Given the description of an element on the screen output the (x, y) to click on. 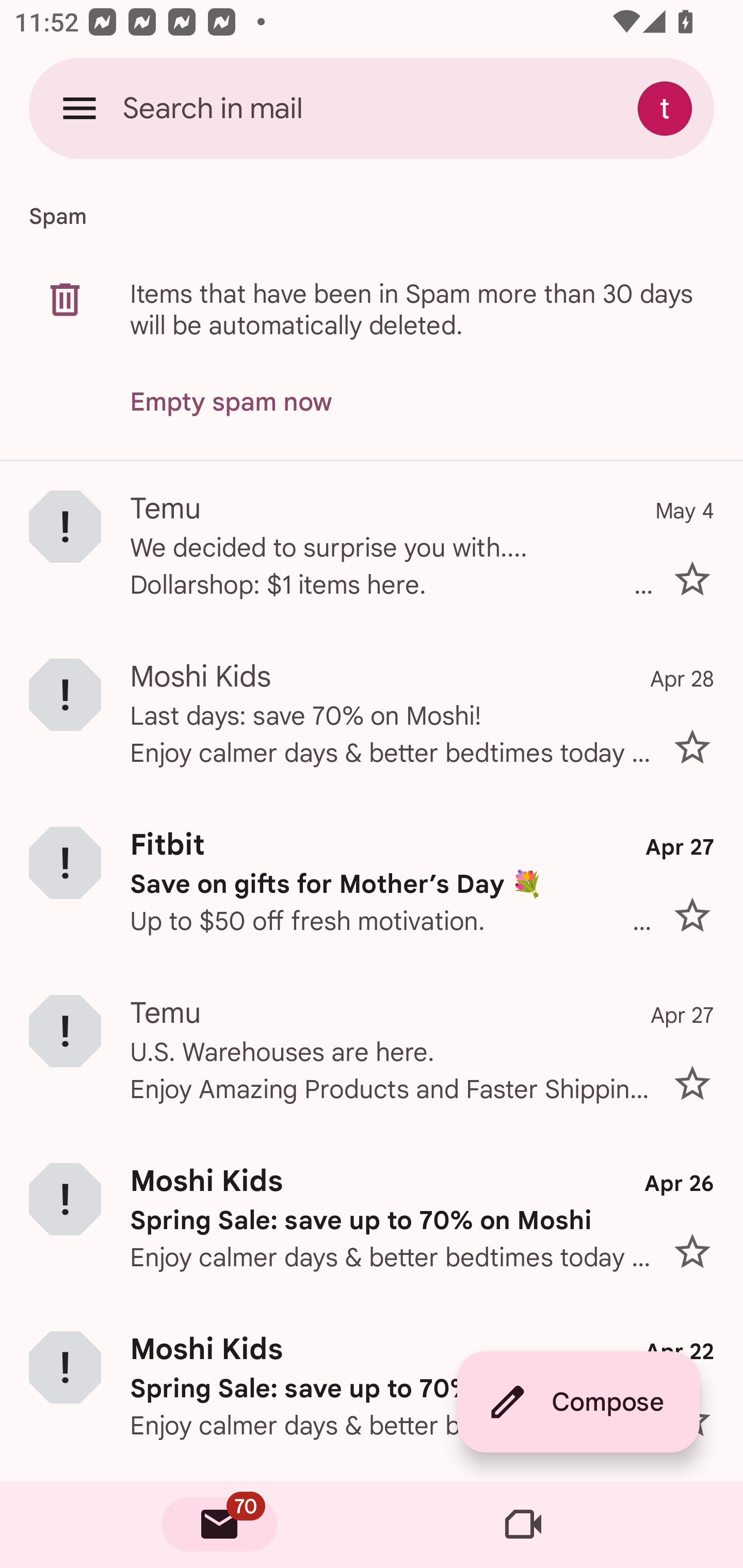
Open navigation drawer (79, 108)
Empty spam now (230, 402)
Compose (577, 1401)
Meet (523, 1524)
